Given the description of an element on the screen output the (x, y) to click on. 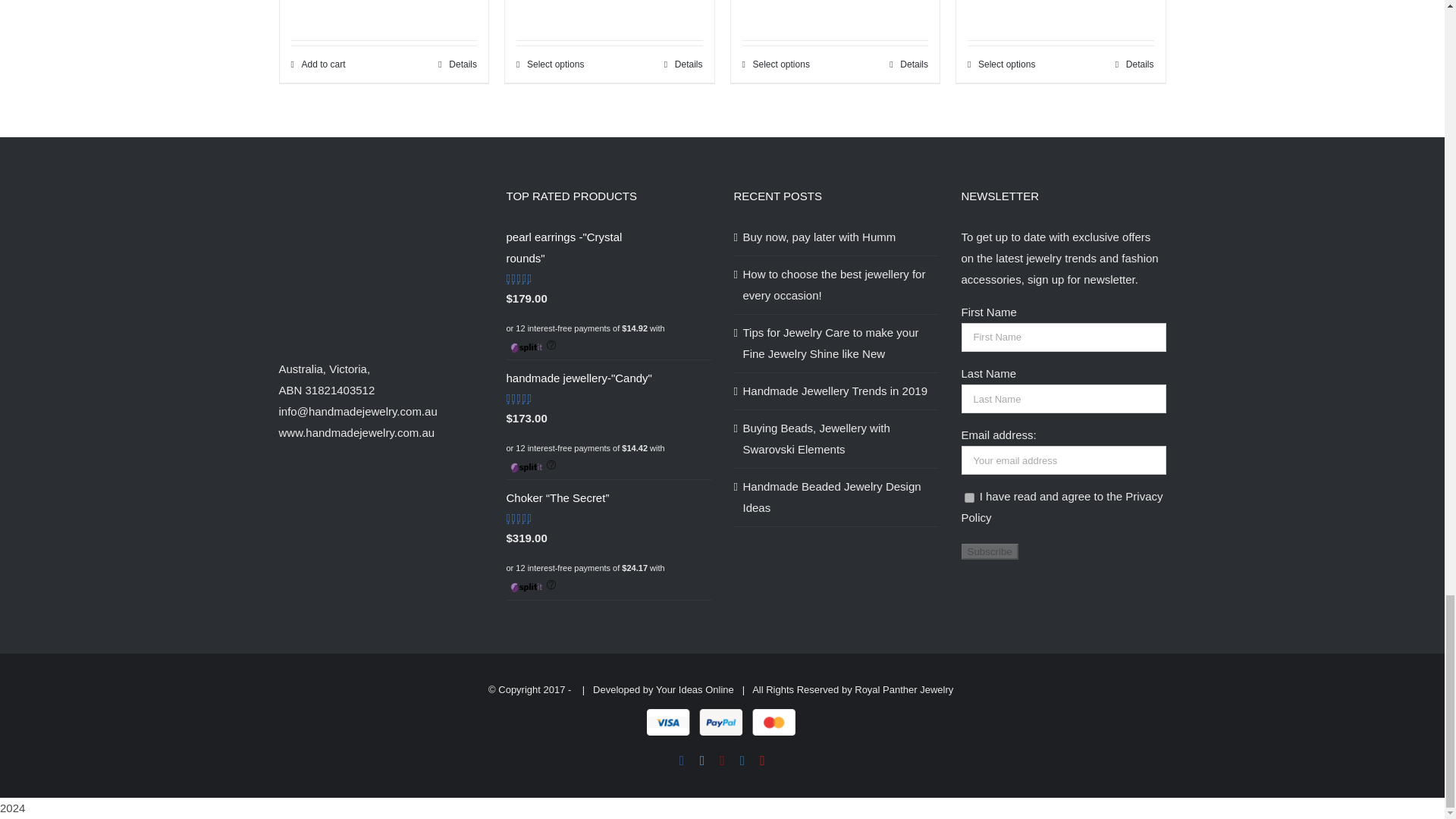
1 (968, 497)
Subscribe (988, 551)
